Given the description of an element on the screen output the (x, y) to click on. 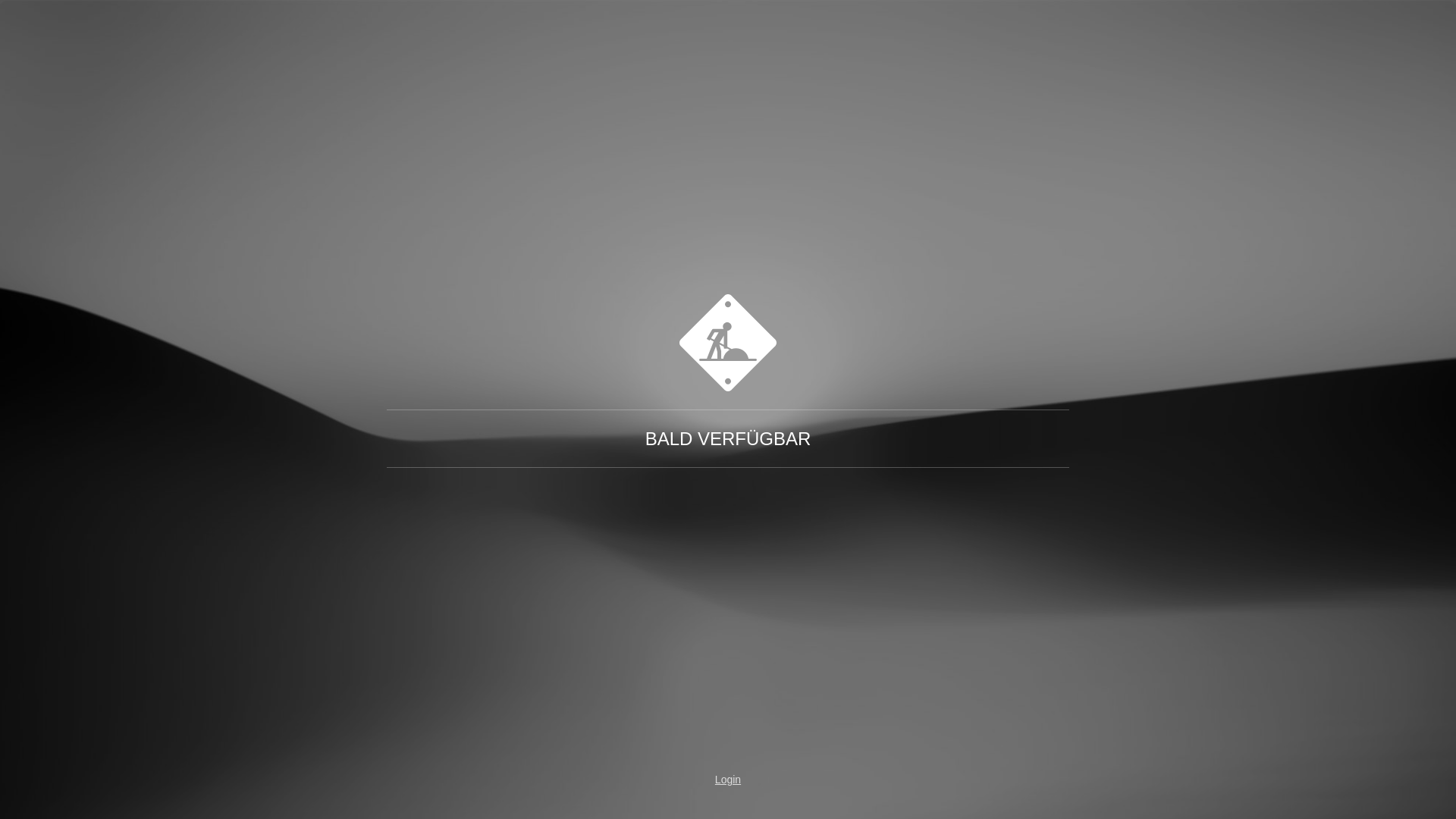
Login Element type: text (727, 779)
